Given the description of an element on the screen output the (x, y) to click on. 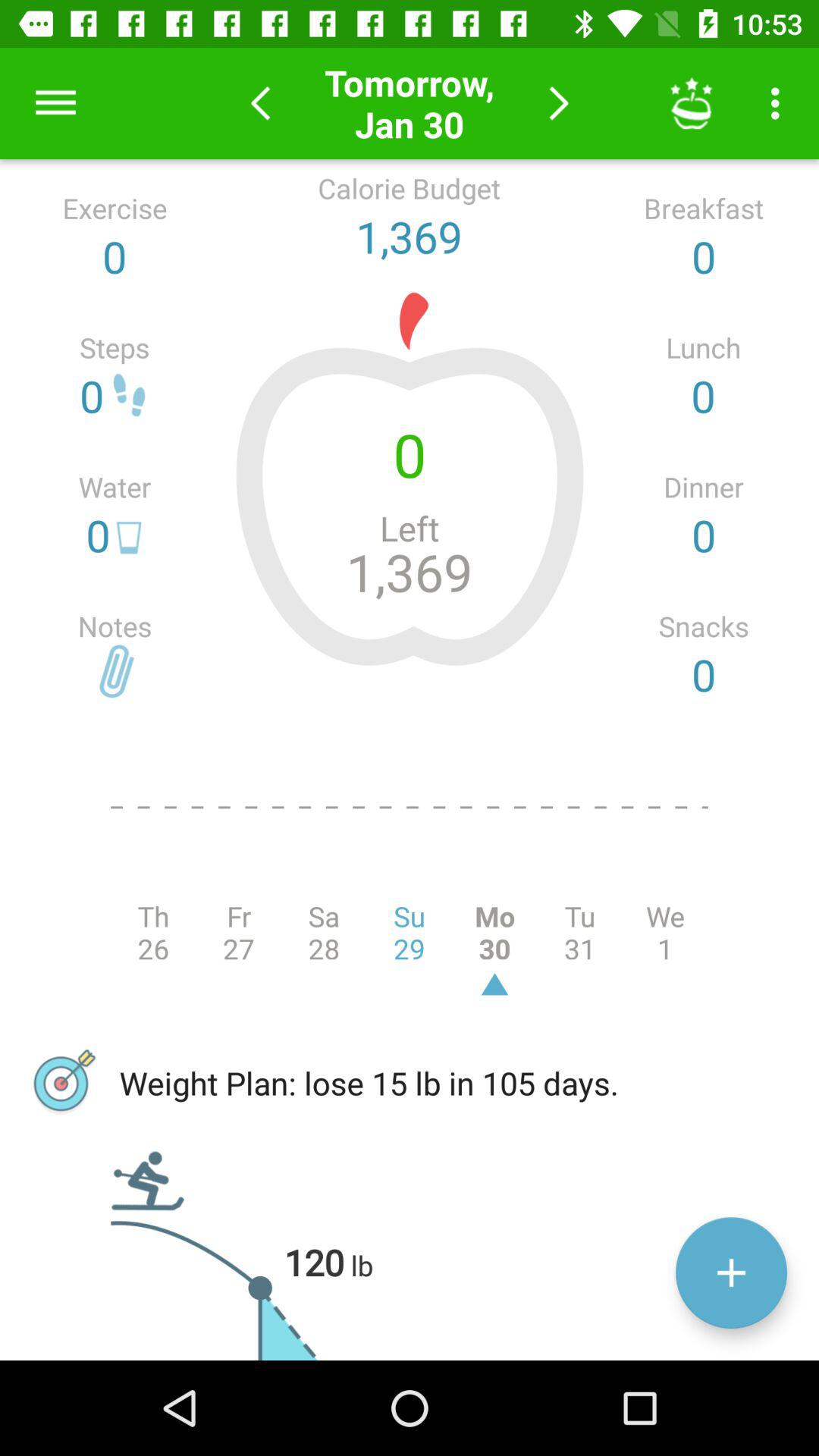
go to next day (558, 103)
